Given the description of an element on the screen output the (x, y) to click on. 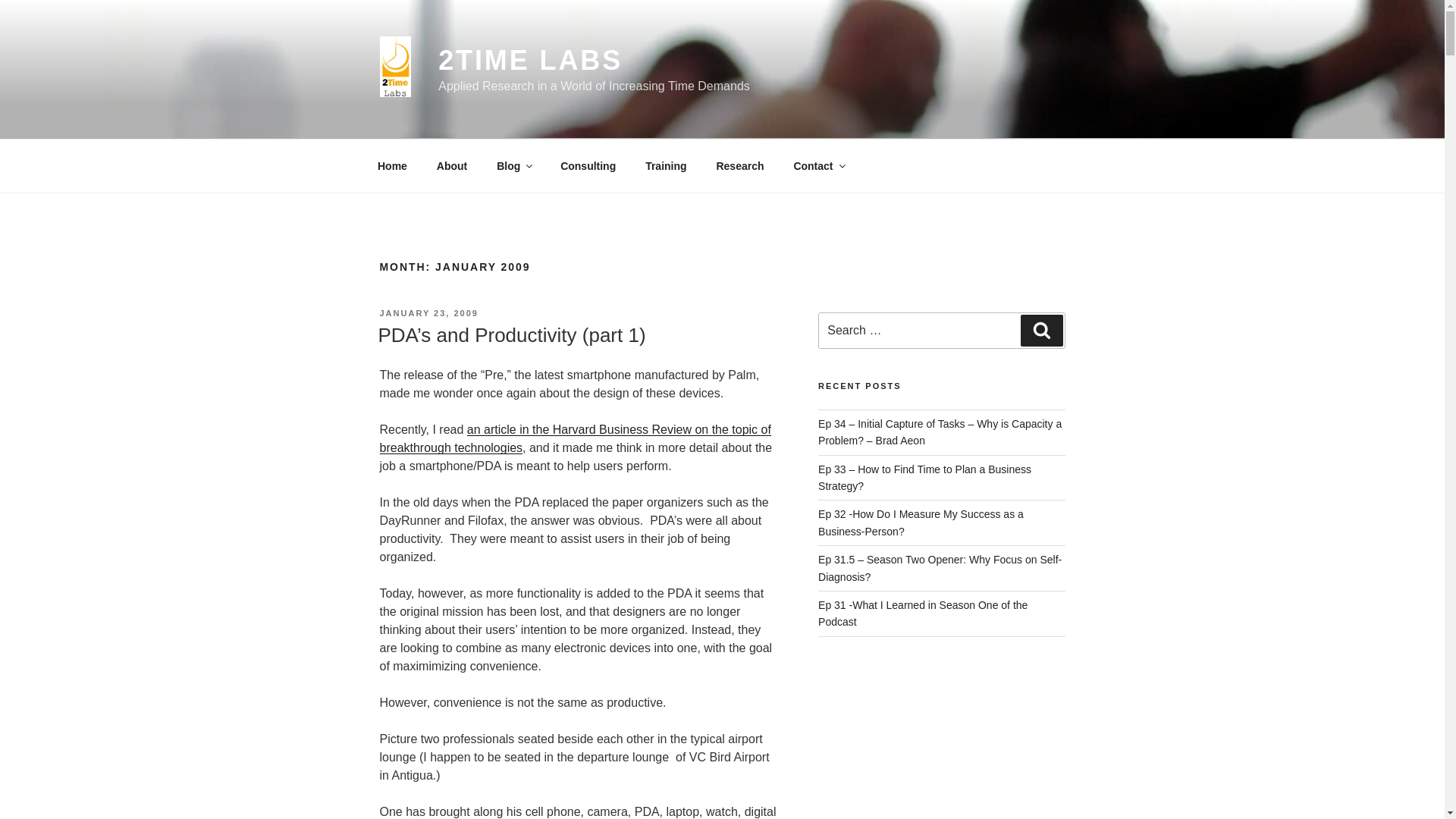
Blog (513, 165)
Home (392, 165)
JANUARY 23, 2009 (427, 312)
Training (665, 165)
About (451, 165)
Research (740, 165)
Contact (818, 165)
Consulting (587, 165)
2TIME LABS (530, 60)
